Given the description of an element on the screen output the (x, y) to click on. 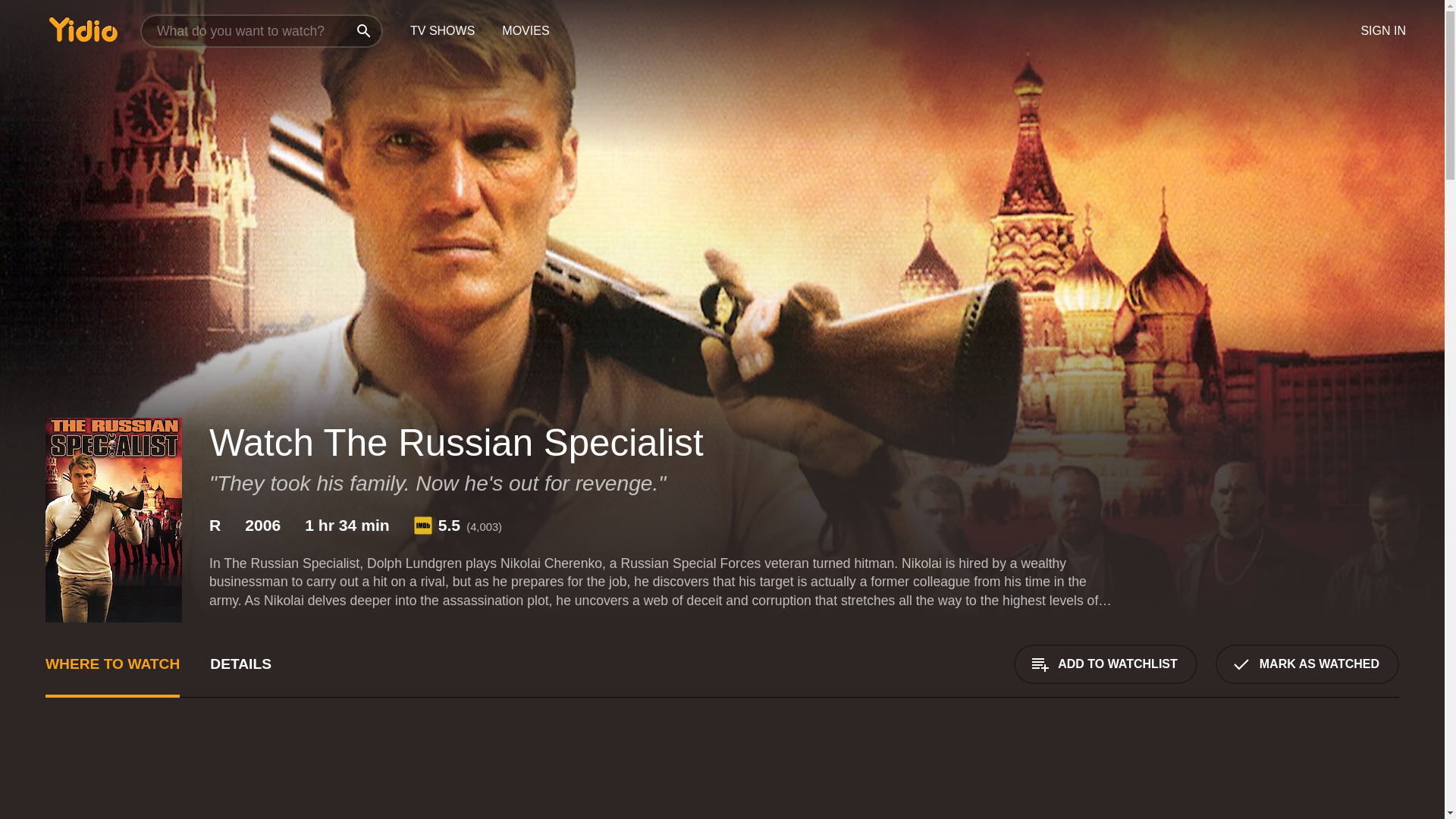
Advertisement (1285, 776)
Advertisement (500, 776)
TV SHOWS (441, 31)
ADD TO WATCHLIST (1104, 663)
Yidio (82, 29)
MARK AS WATCHED (1307, 663)
MOVIES (524, 31)
